Given the description of an element on the screen output the (x, y) to click on. 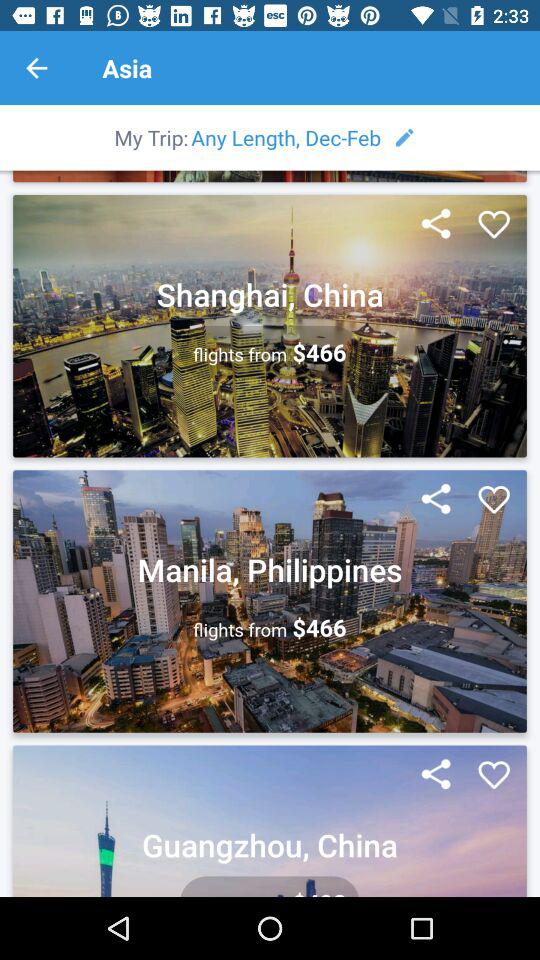
favorite location (494, 500)
